Given the description of an element on the screen output the (x, y) to click on. 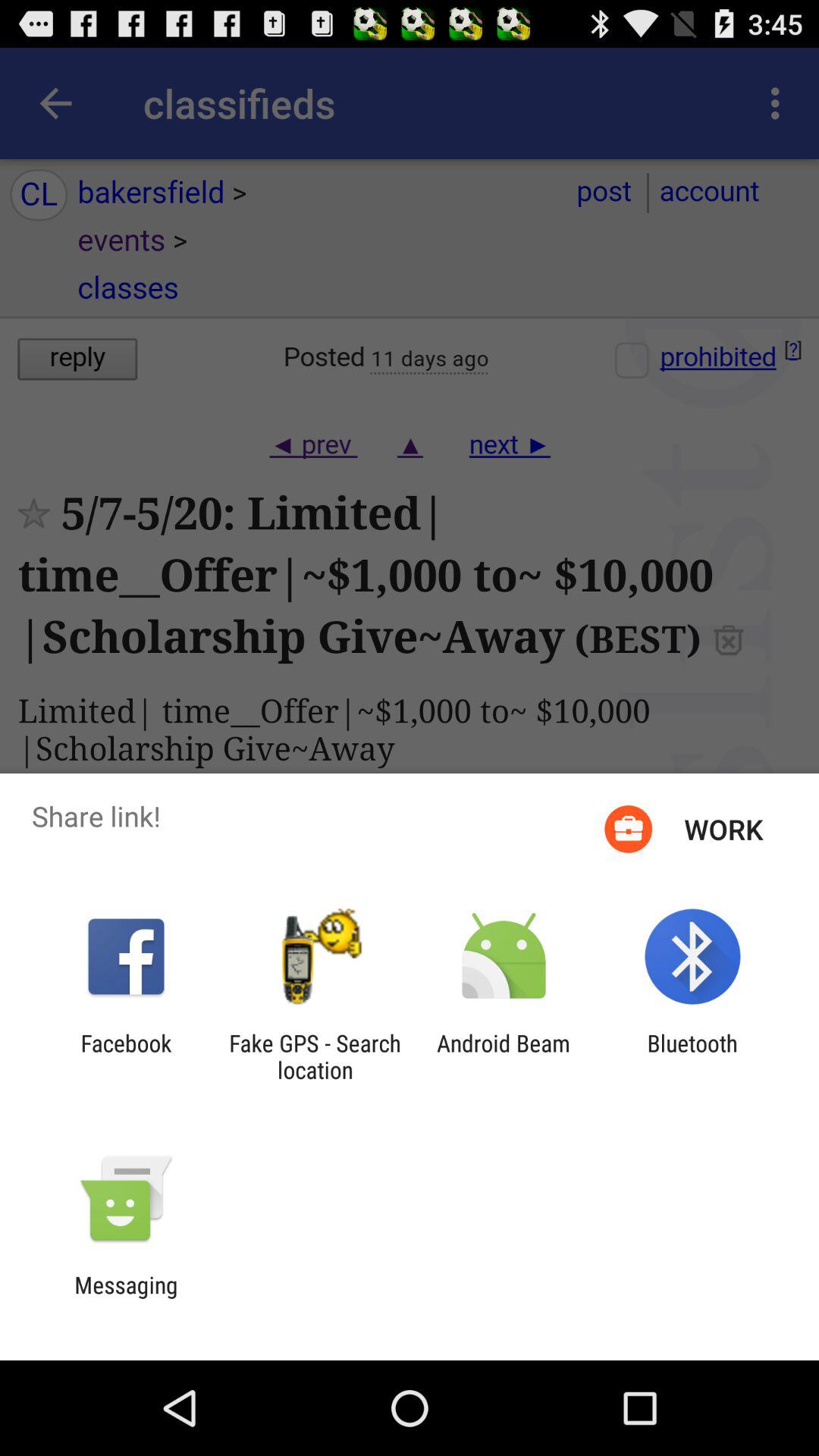
scroll until android beam item (503, 1056)
